Given the description of an element on the screen output the (x, y) to click on. 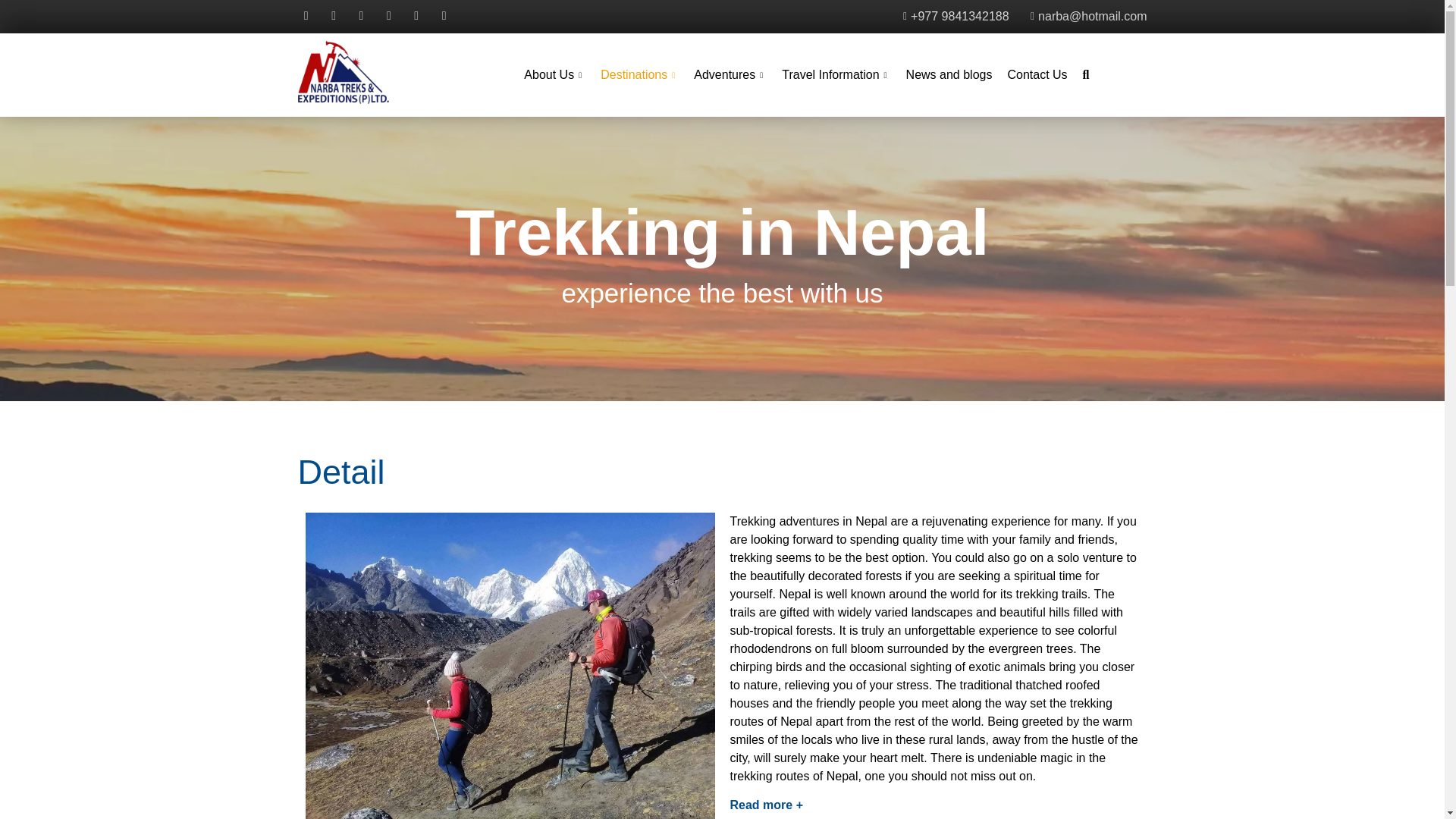
Adventures (729, 75)
About Us (554, 75)
Destinations (638, 75)
